Given the description of an element on the screen output the (x, y) to click on. 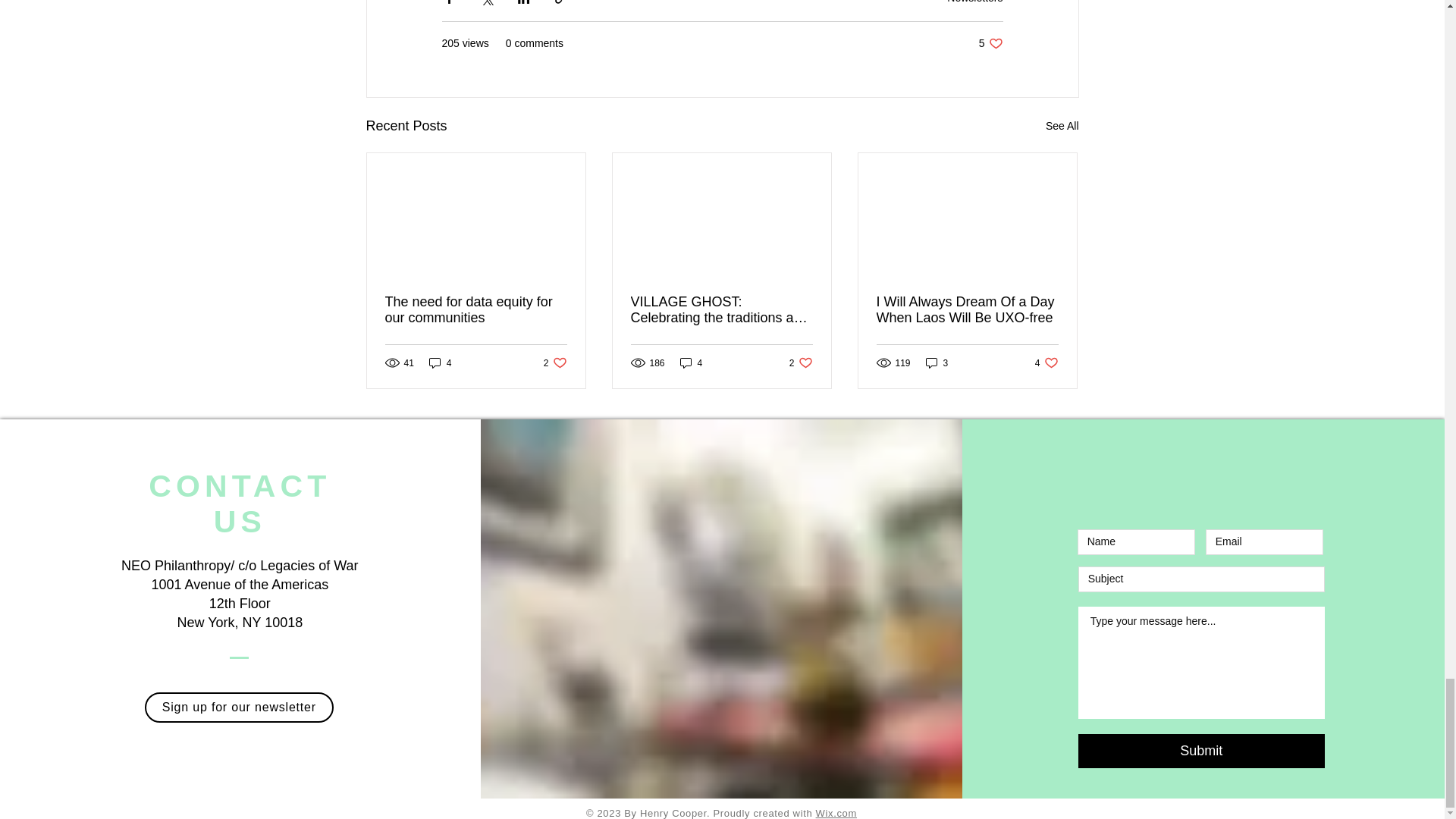
I Will Always Dream Of a Day When Laos Will Be UXO-free (967, 309)
4 (440, 362)
Newsletters (975, 2)
Sign up for our newsletter (800, 362)
See All (555, 362)
The need for data equity for our communities (238, 707)
4 (1061, 126)
Submit (1046, 362)
3 (476, 309)
